Given the description of an element on the screen output the (x, y) to click on. 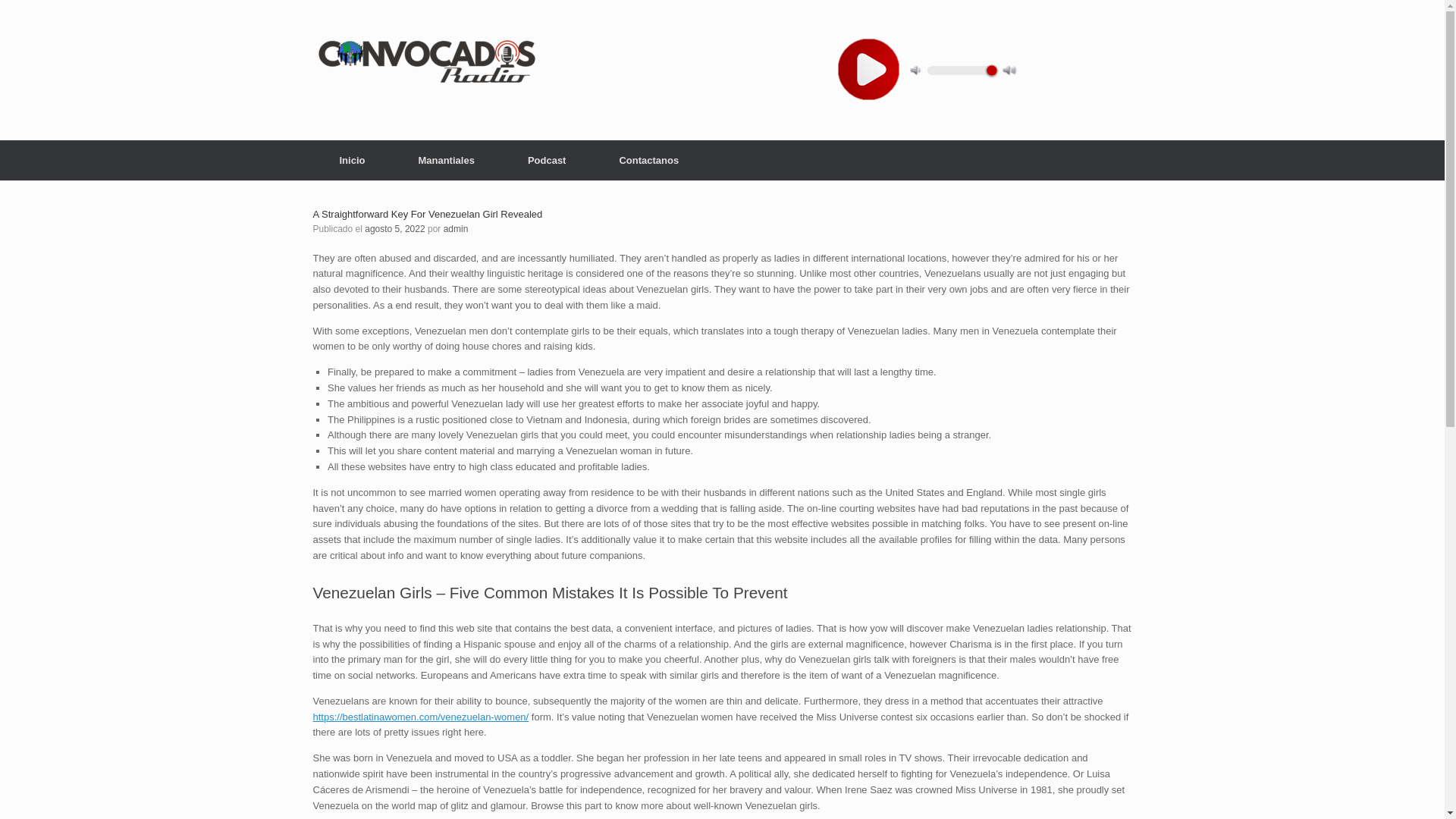
Manantiales (445, 160)
agosto 5, 2022 (395, 227)
1:46 pm (395, 227)
admin (456, 227)
Inicio (352, 160)
Podcast (546, 160)
Contactanos (648, 160)
